Given the description of an element on the screen output the (x, y) to click on. 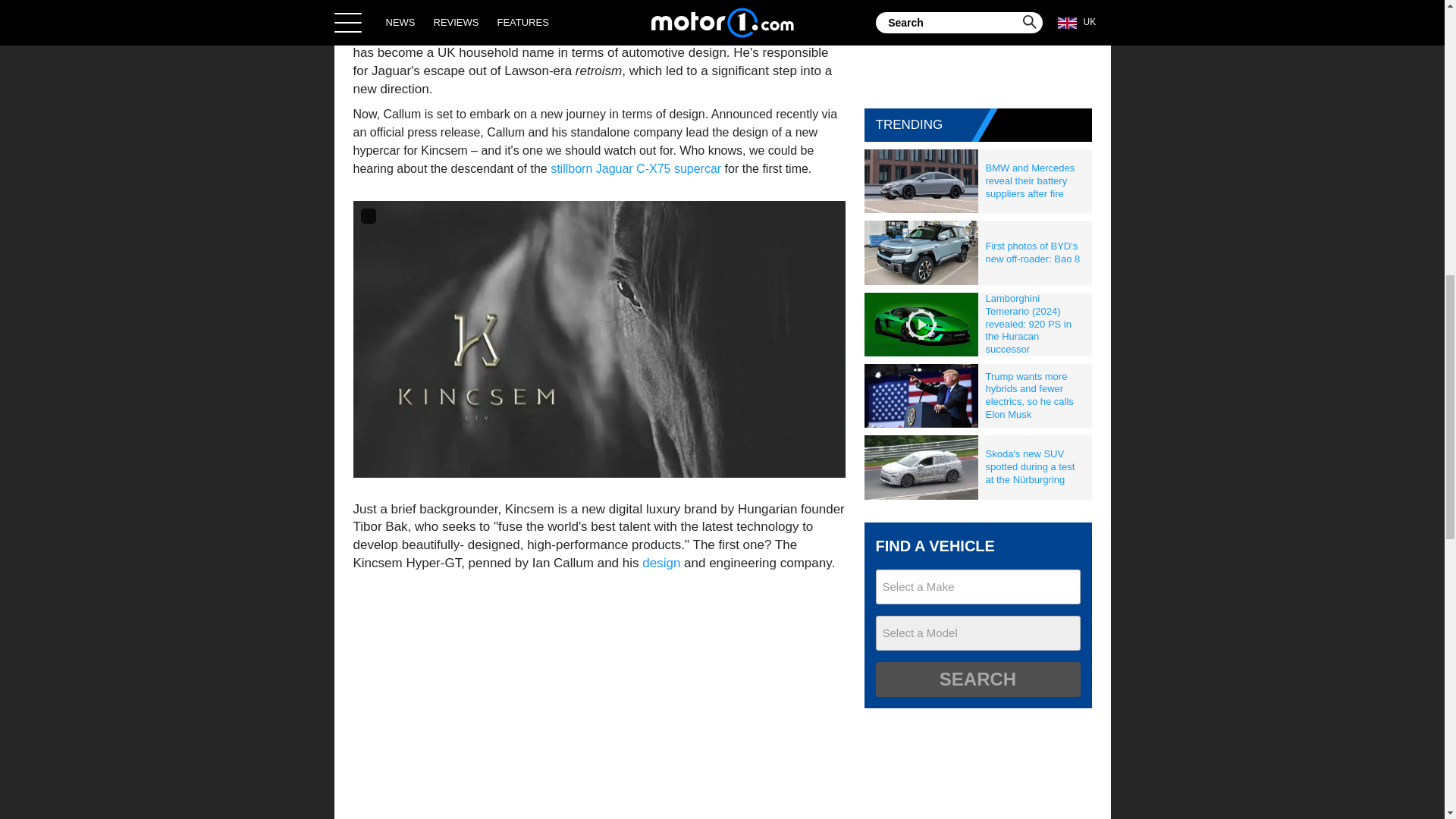
design (660, 563)
Jaguar (748, 34)
Ford (503, 34)
BMW and Mercedes reveal their battery suppliers after fire (1035, 181)
Aston Martin (558, 34)
Search (977, 678)
First photos of BYD's new off-roader: Bao 8 (1035, 253)
stillborn Jaguar C-X75 supercar (635, 168)
